Given the description of an element on the screen output the (x, y) to click on. 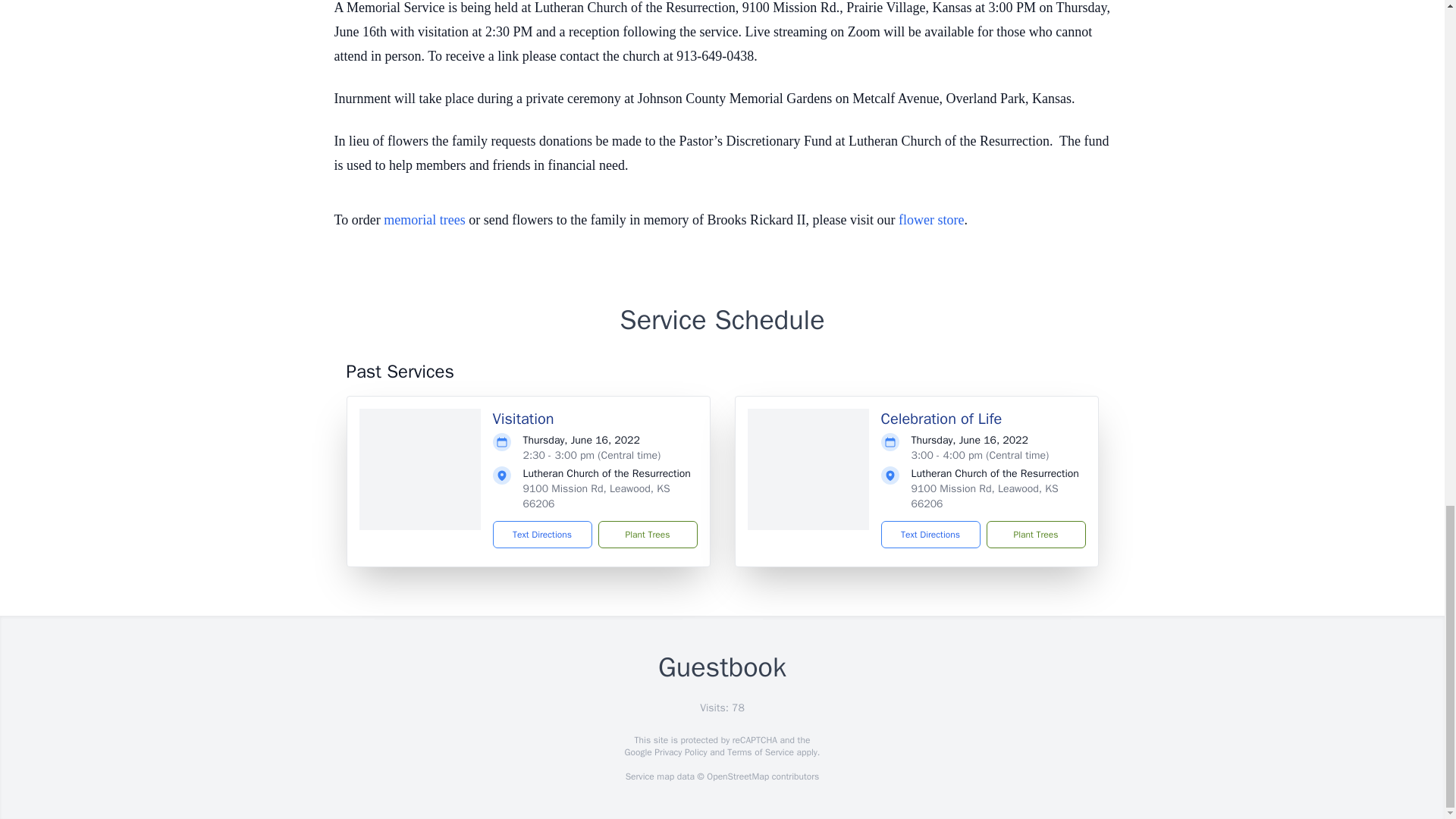
Plant Trees (646, 533)
memorial trees (424, 219)
Text Directions (542, 533)
9100 Mission Rd, Leawood, KS 66206 (984, 496)
Plant Trees (1034, 533)
OpenStreetMap (737, 776)
Text Directions (929, 533)
9100 Mission Rd, Leawood, KS 66206 (595, 496)
Privacy Policy (679, 752)
Terms of Service (759, 752)
